Given the description of an element on the screen output the (x, y) to click on. 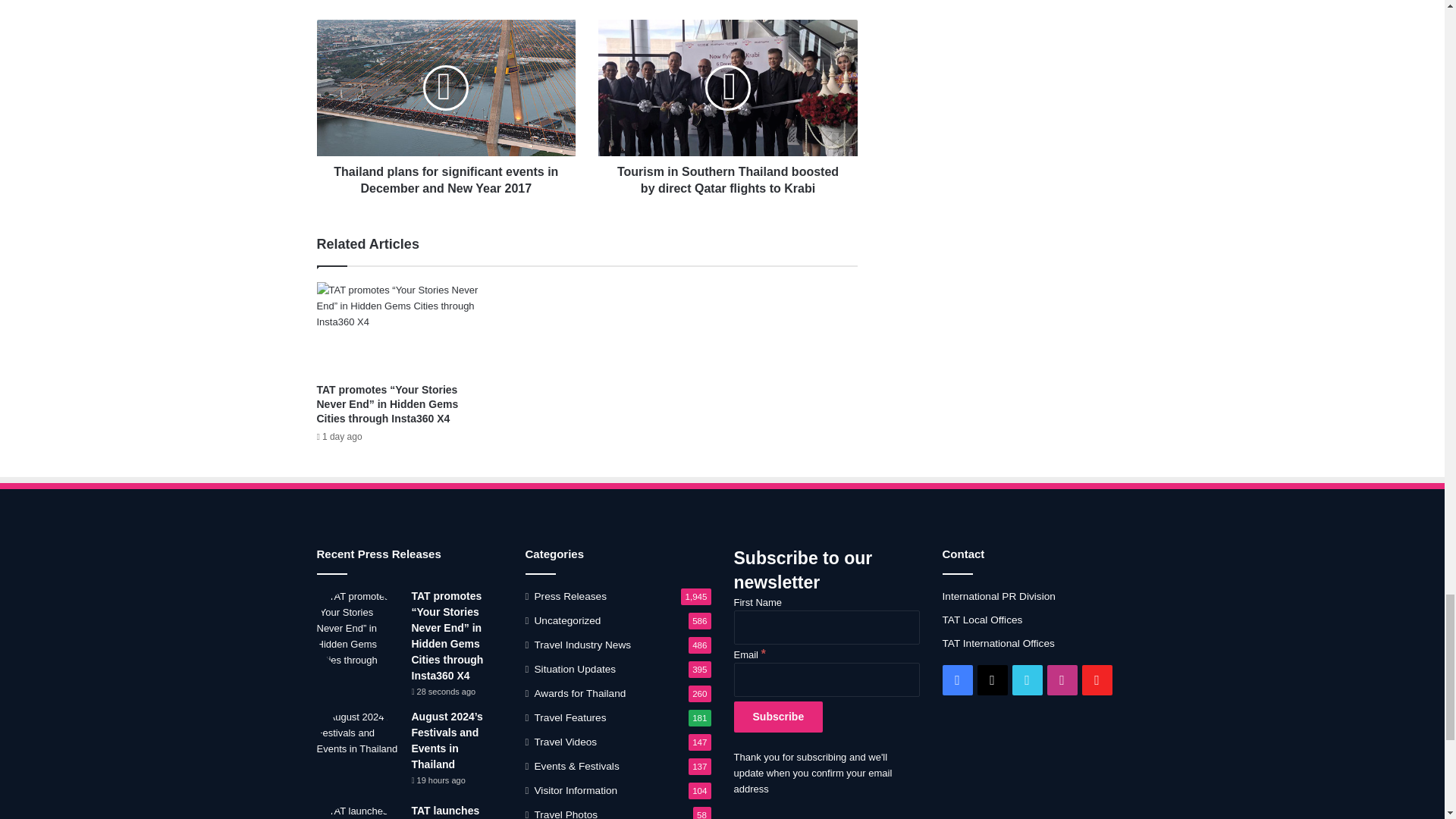
Subscribe (778, 716)
